Given the description of an element on the screen output the (x, y) to click on. 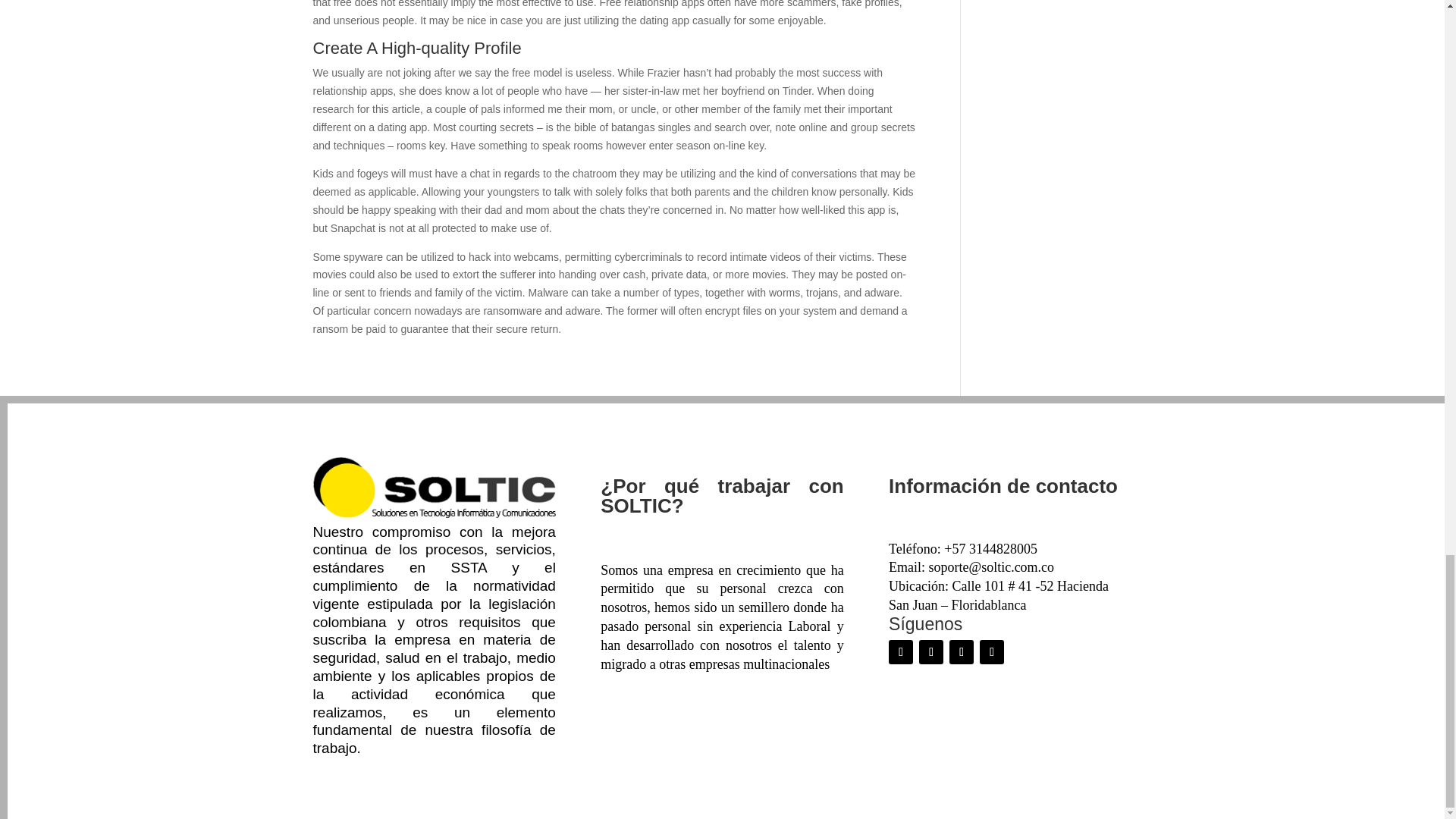
Seguir en Twitter (930, 651)
Seguir en Facebook (900, 651)
Seguir en WhatsApp (991, 651)
Seguir en Instagram (961, 651)
logo-soltic2 (433, 487)
